Given the description of an element on the screen output the (x, y) to click on. 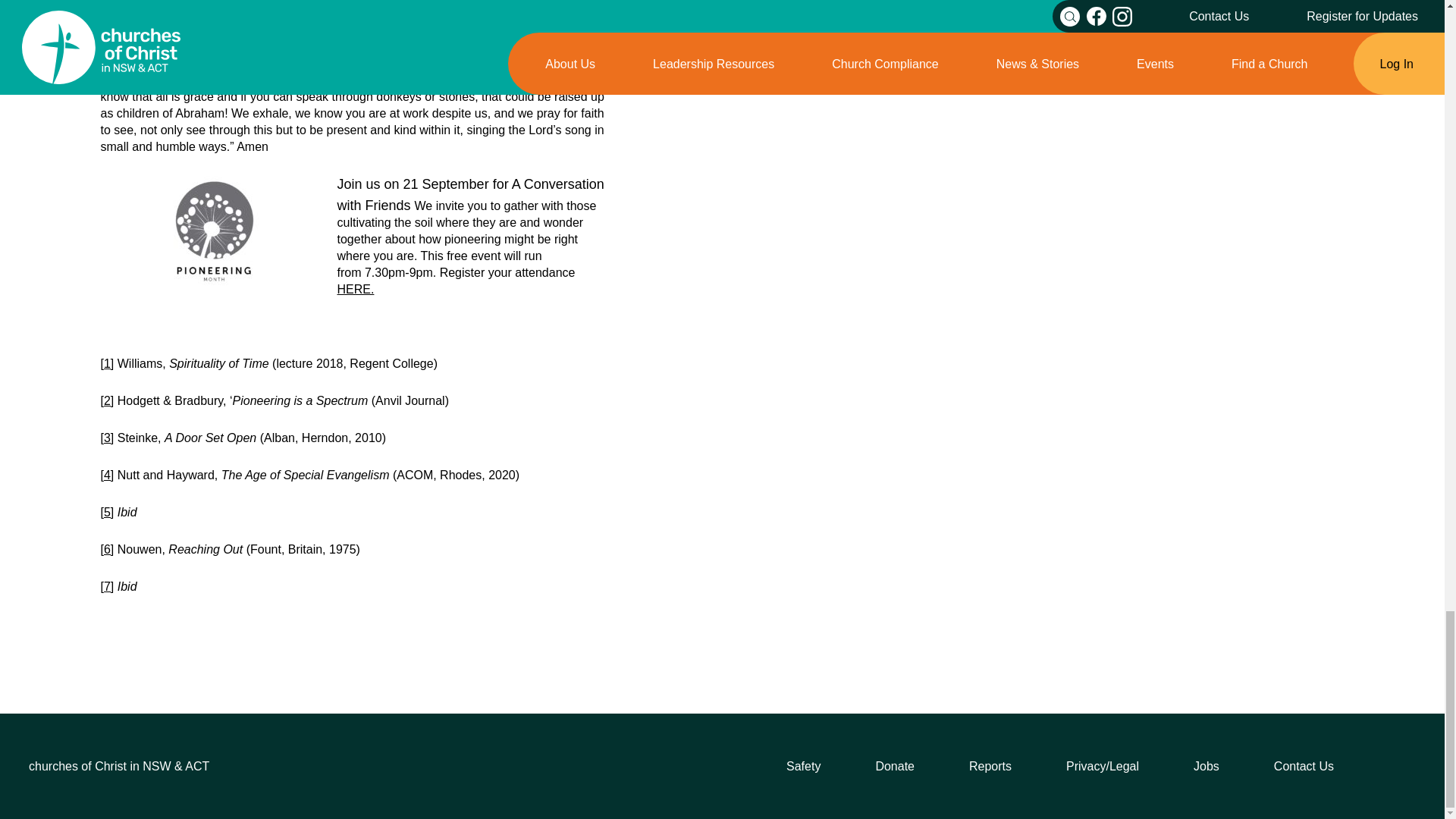
HERE. (355, 288)
Reports (990, 766)
Contact Us (1303, 766)
Donate (894, 766)
Safety (803, 766)
Jobs (1206, 766)
